Given the description of an element on the screen output the (x, y) to click on. 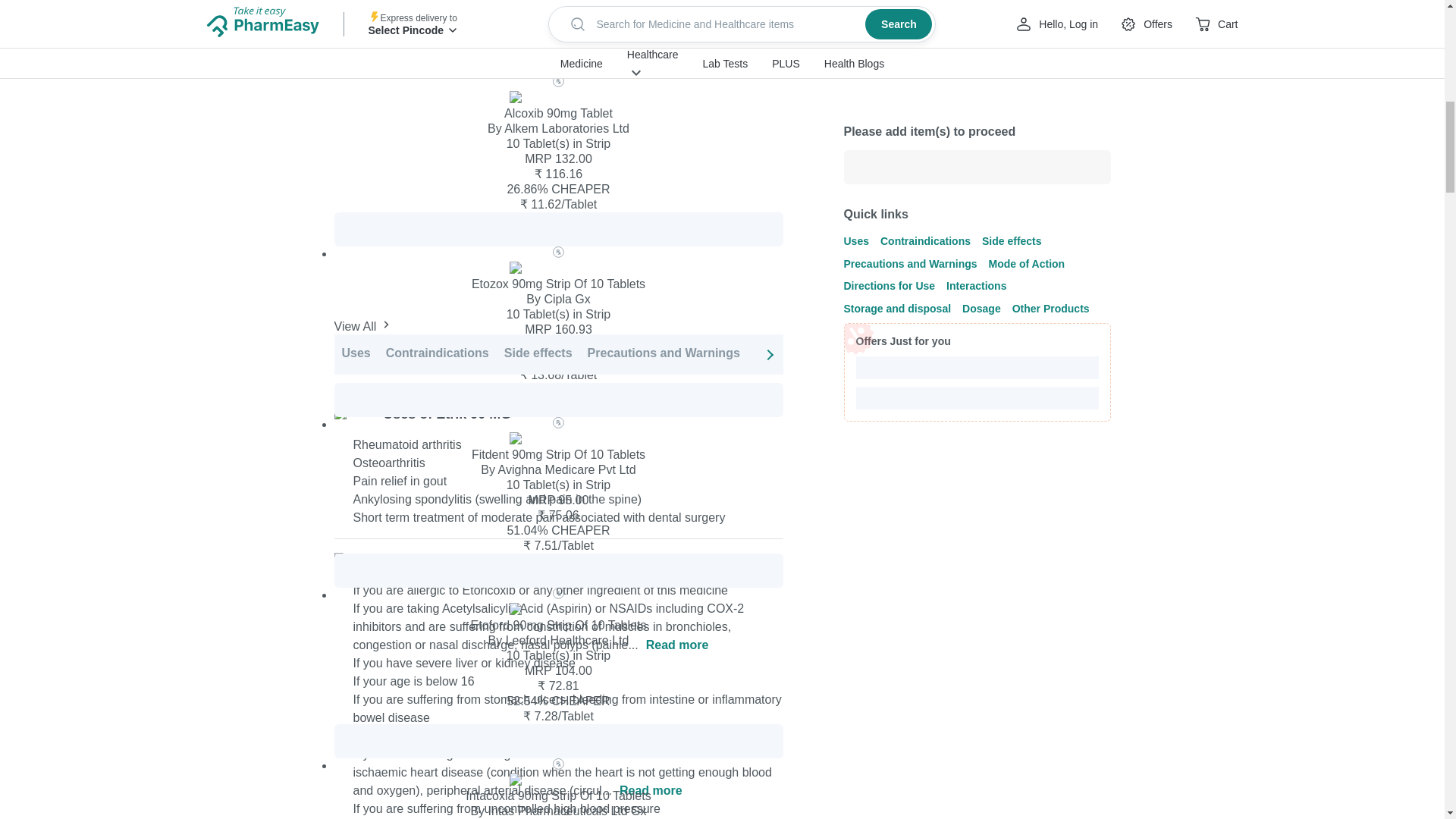
Mode of Action (799, 354)
Contraindications (437, 354)
Directions for Use (909, 354)
Side effects (537, 354)
Precautions and Warnings (663, 354)
Uses (355, 354)
Other Products (1302, 354)
Dosage (1220, 354)
Interactions (1011, 354)
Storage and disposal (1121, 354)
